Given the description of an element on the screen output the (x, y) to click on. 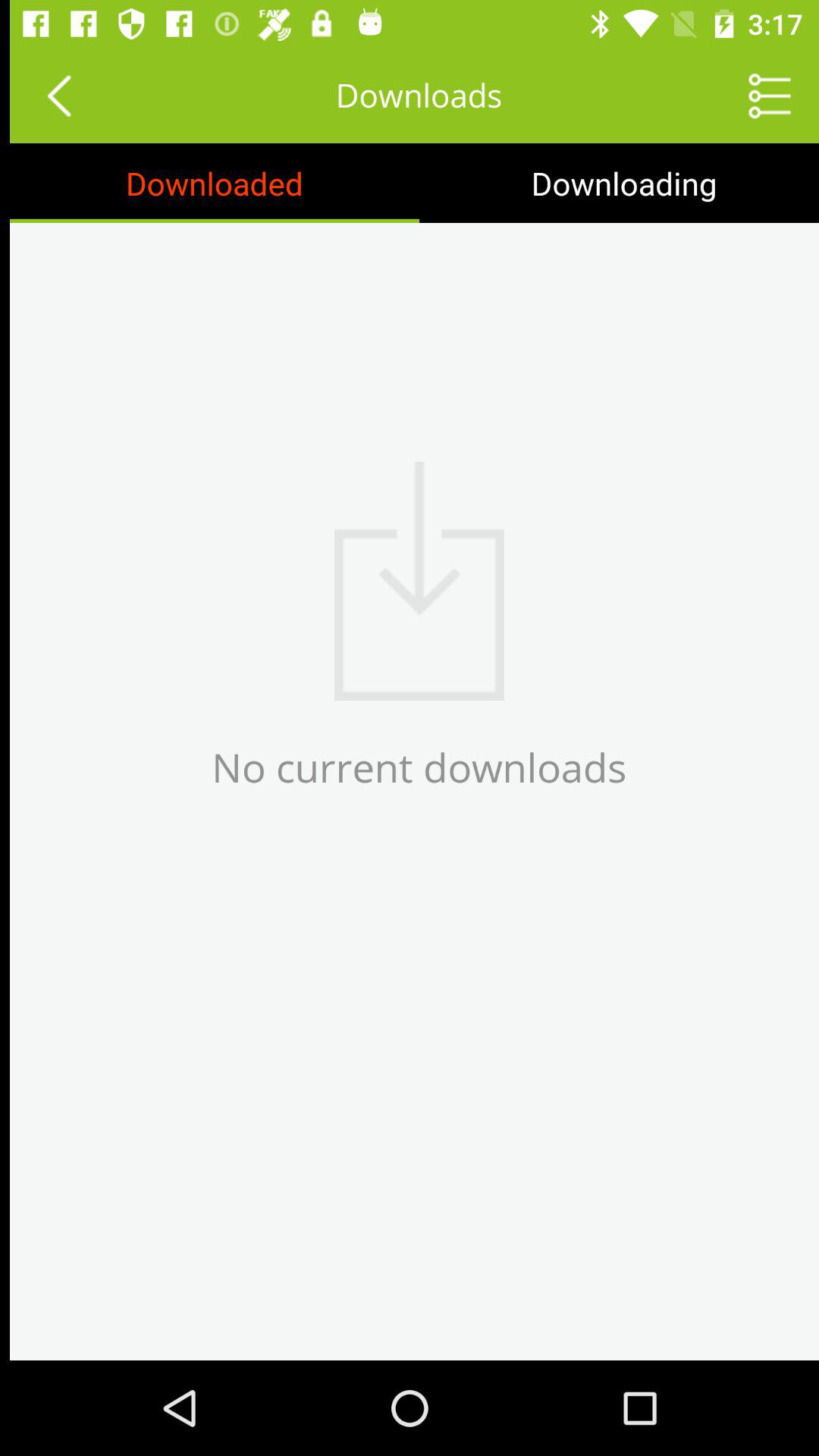
tap item to the right of the downloads icon (759, 95)
